Given the description of an element on the screen output the (x, y) to click on. 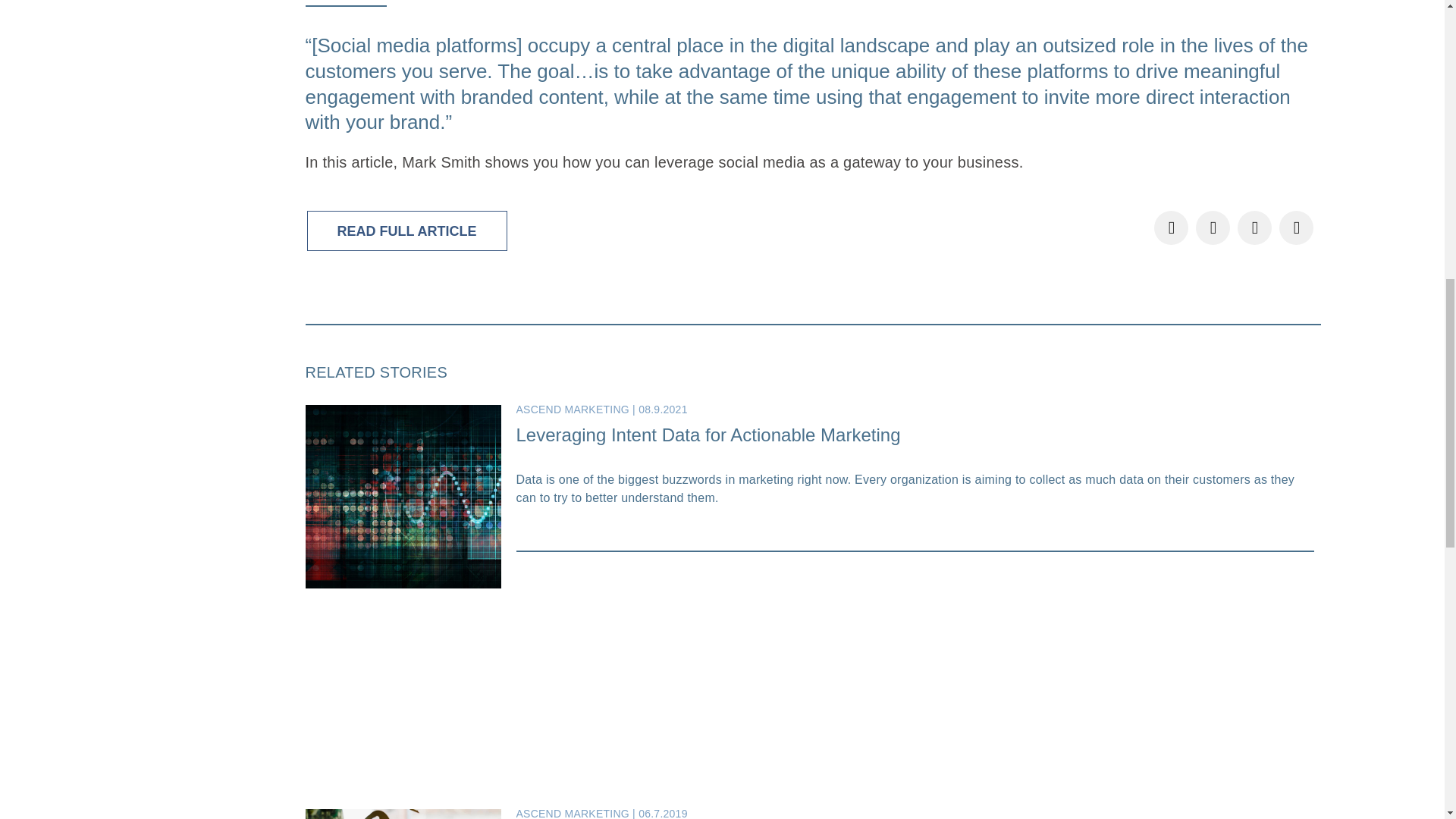
READ FULL ARTICLE (405, 230)
Leveraging Intent Data for Actionable Marketing (707, 435)
